Given the description of an element on the screen output the (x, y) to click on. 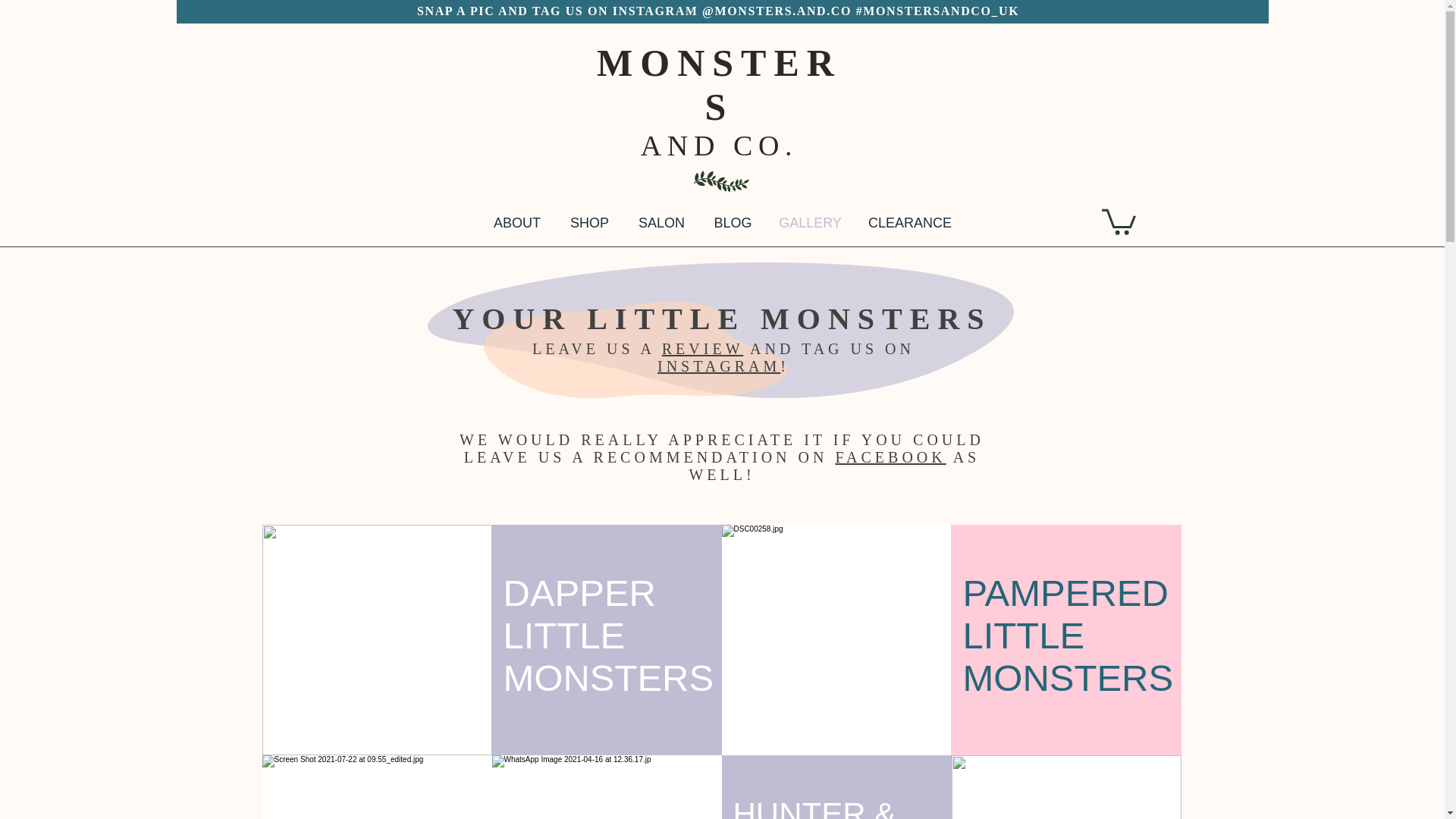
INSTAGRAM (719, 365)
FACEBOOK (889, 457)
AND CO. (718, 145)
ABOUT (517, 223)
GALLERY (809, 223)
SHOP (588, 223)
REVIEW (702, 348)
SALON (660, 223)
MONSTERS (718, 84)
CLEARANCE (909, 223)
